Given the description of an element on the screen output the (x, y) to click on. 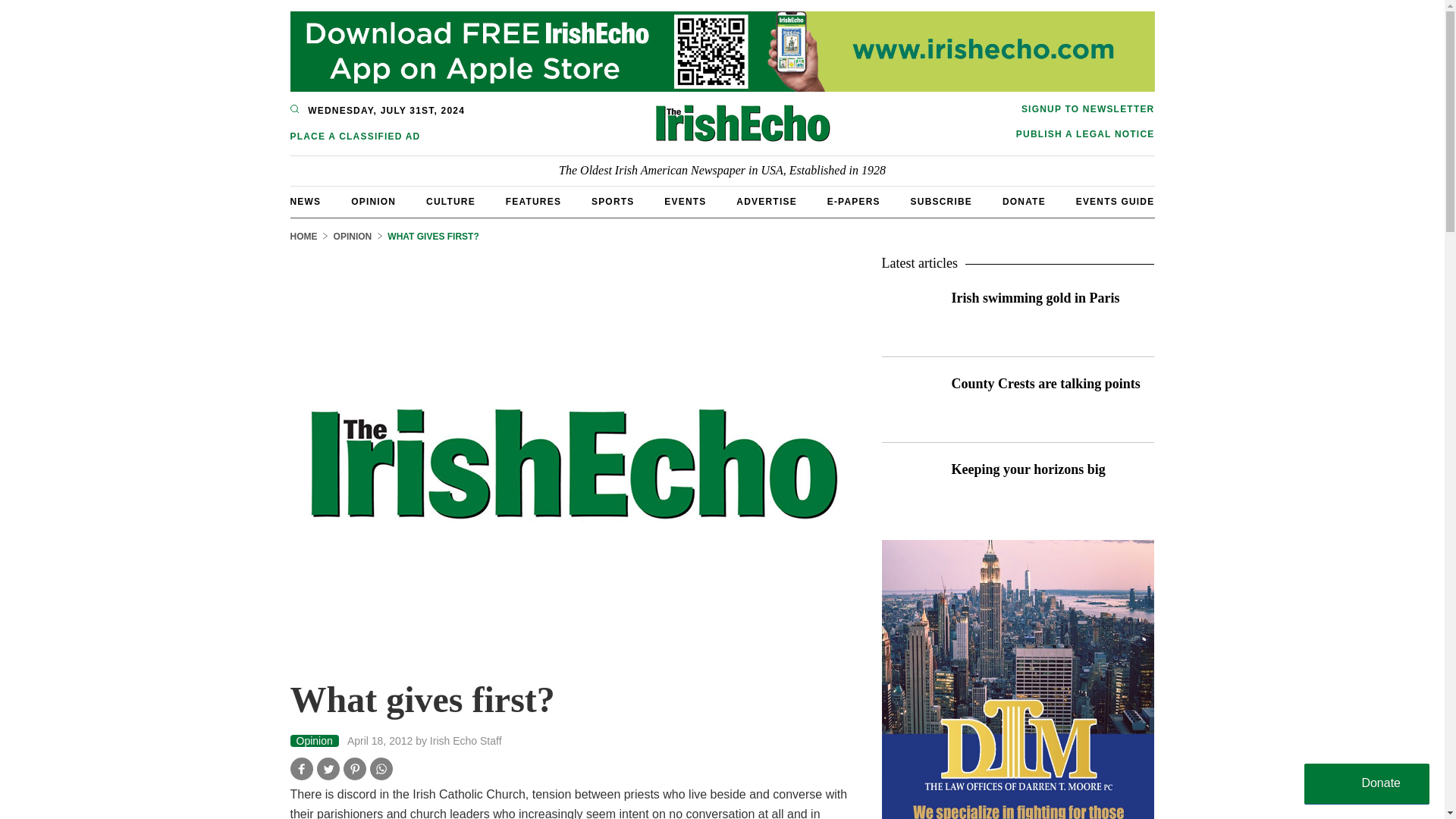
DONATE (1024, 201)
FEATURES (532, 201)
SIGNUP TO NEWSLETTER (1085, 109)
PUBLISH A LEGAL NOTICE (1085, 133)
NEWS (304, 201)
SPORTS (612, 201)
EVENTS (684, 201)
ADVERTISE (766, 201)
CULTURE (451, 201)
EVENTS GUIDE (1114, 201)
E-PAPERS (853, 201)
SUBSCRIBE (941, 201)
PLACE A CLASSIFIED AD (379, 136)
OPINION (373, 201)
